Given the description of an element on the screen output the (x, y) to click on. 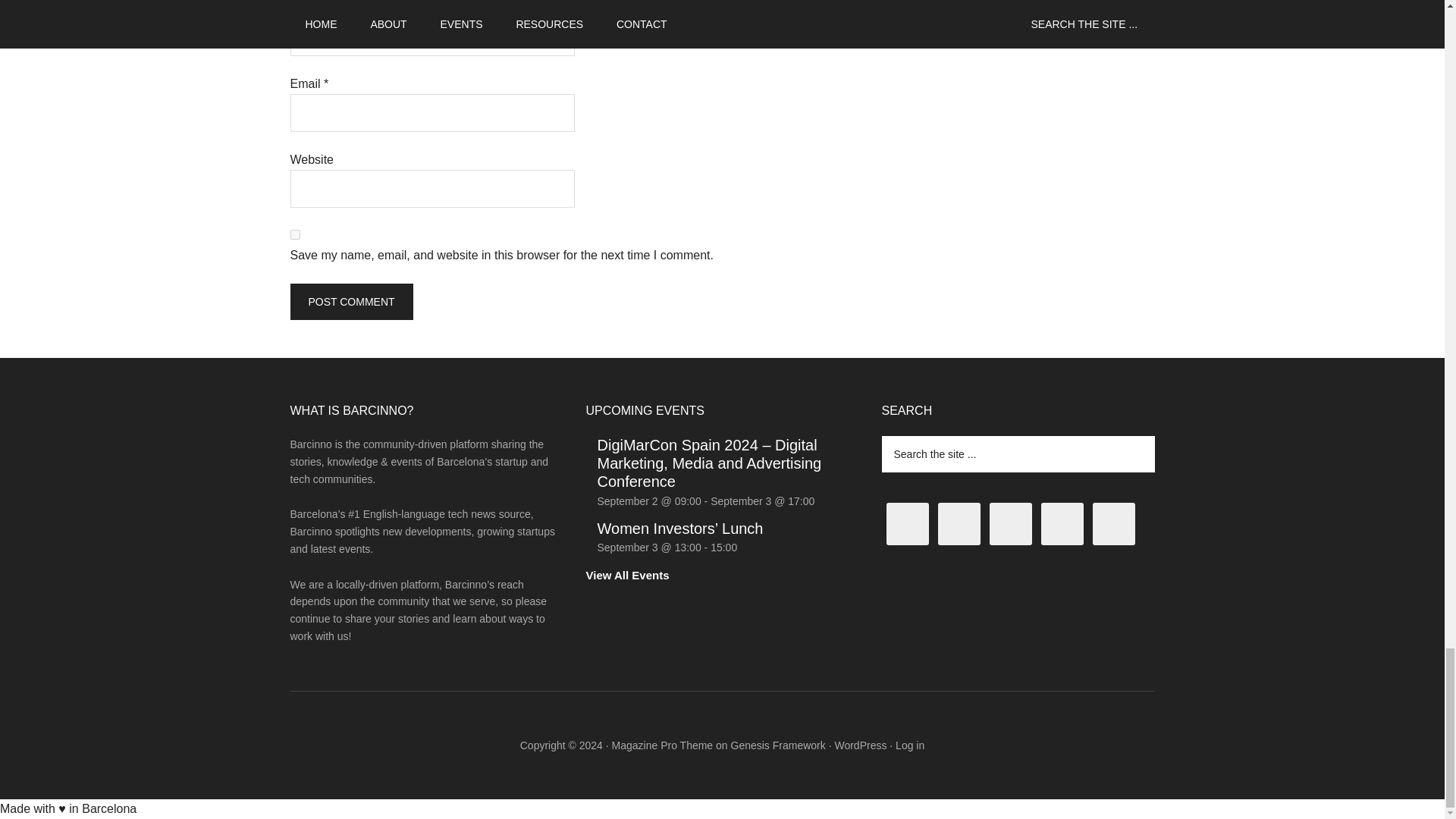
yes (294, 234)
Post Comment (350, 301)
